Given the description of an element on the screen output the (x, y) to click on. 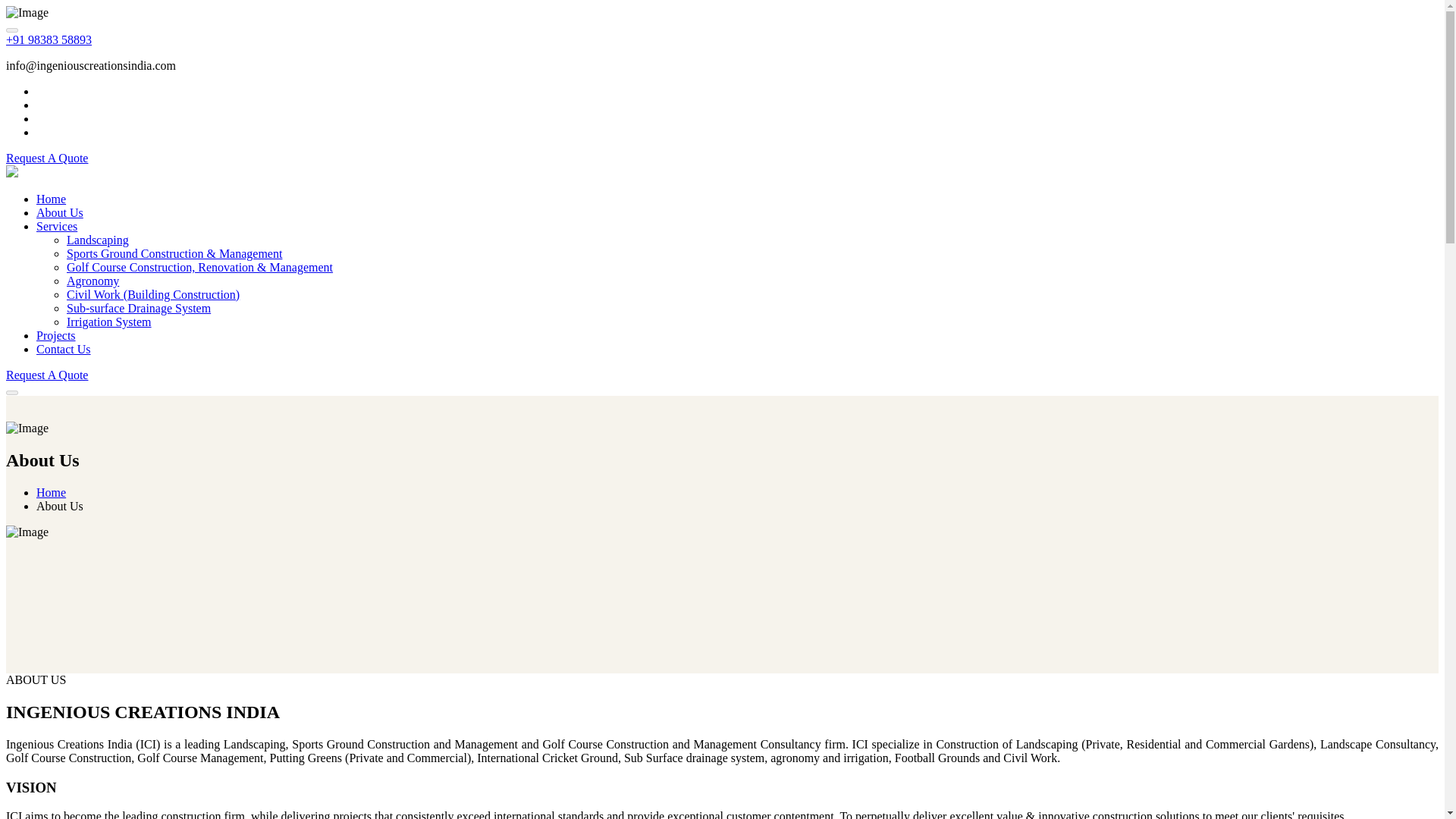
Sub-surface Drainage System (138, 308)
Home (50, 198)
Contact Us (63, 349)
Services (56, 226)
Irrigation System (108, 321)
Landscaping (97, 239)
About Us (59, 212)
Request A Quote (46, 374)
Request A Quote (46, 157)
Agronomy (92, 280)
